Given the description of an element on the screen output the (x, y) to click on. 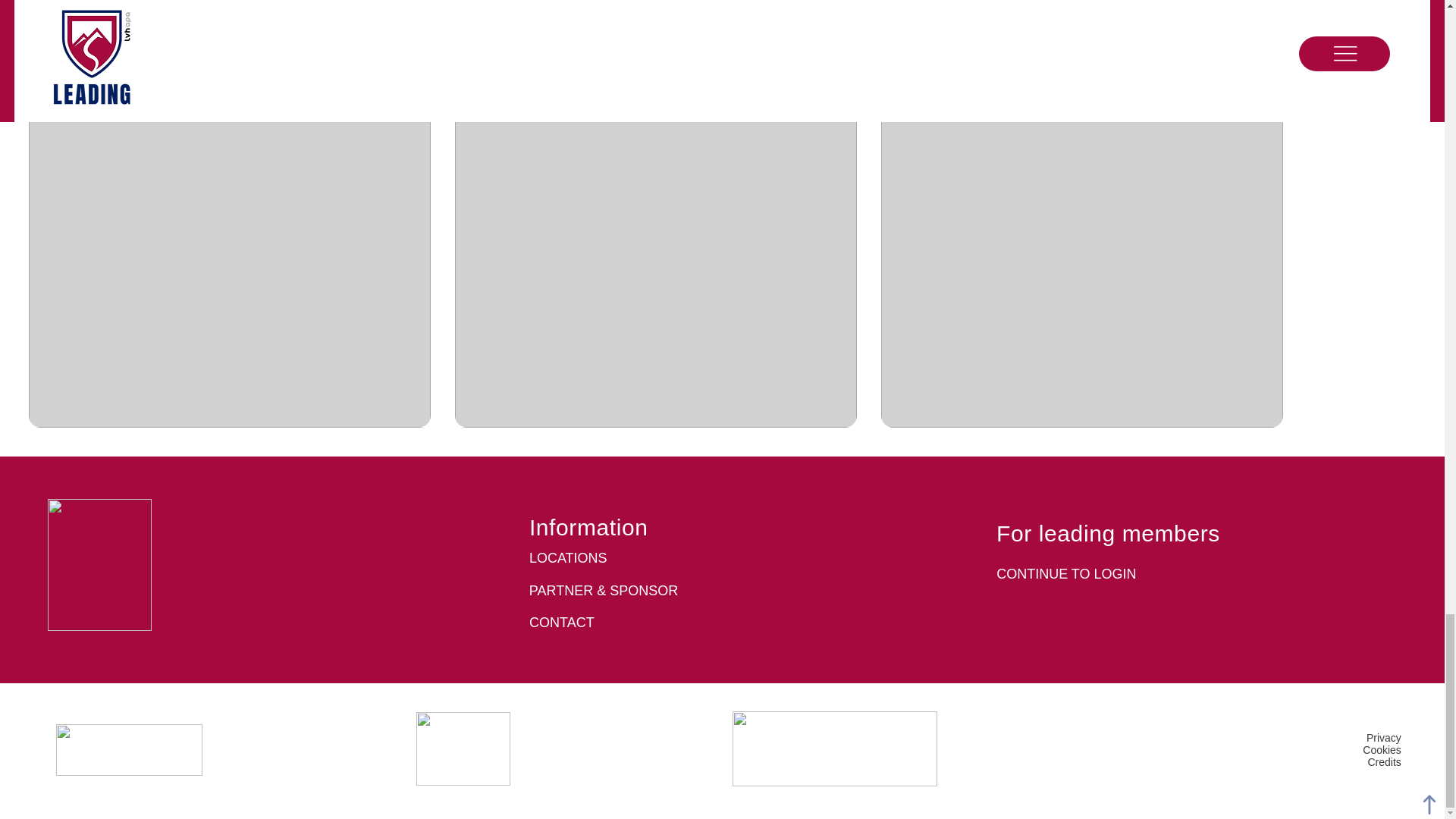
Cookies (1381, 749)
CONTACT (561, 622)
LOCATIONS (568, 557)
Credits (1384, 761)
CONTINUE TO LOGIN (1065, 573)
Privacy (1383, 737)
